Given the description of an element on the screen output the (x, y) to click on. 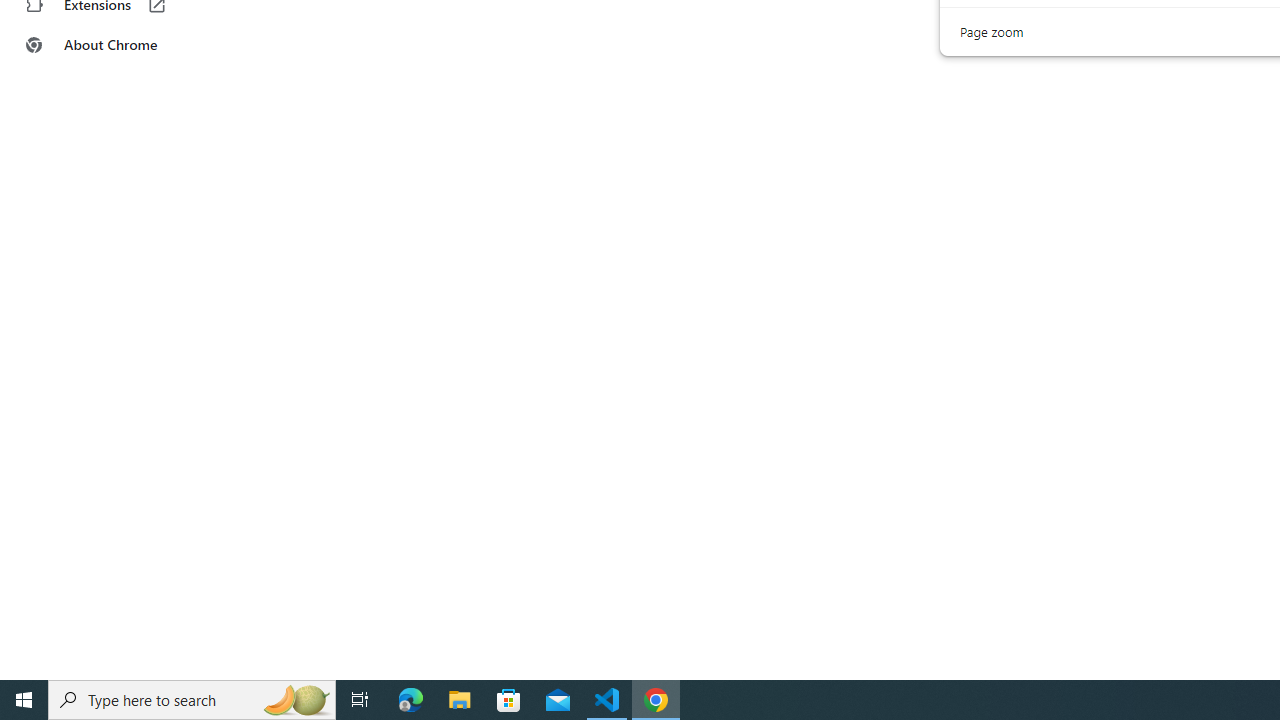
About Chrome (124, 44)
